Given the description of an element on the screen output the (x, y) to click on. 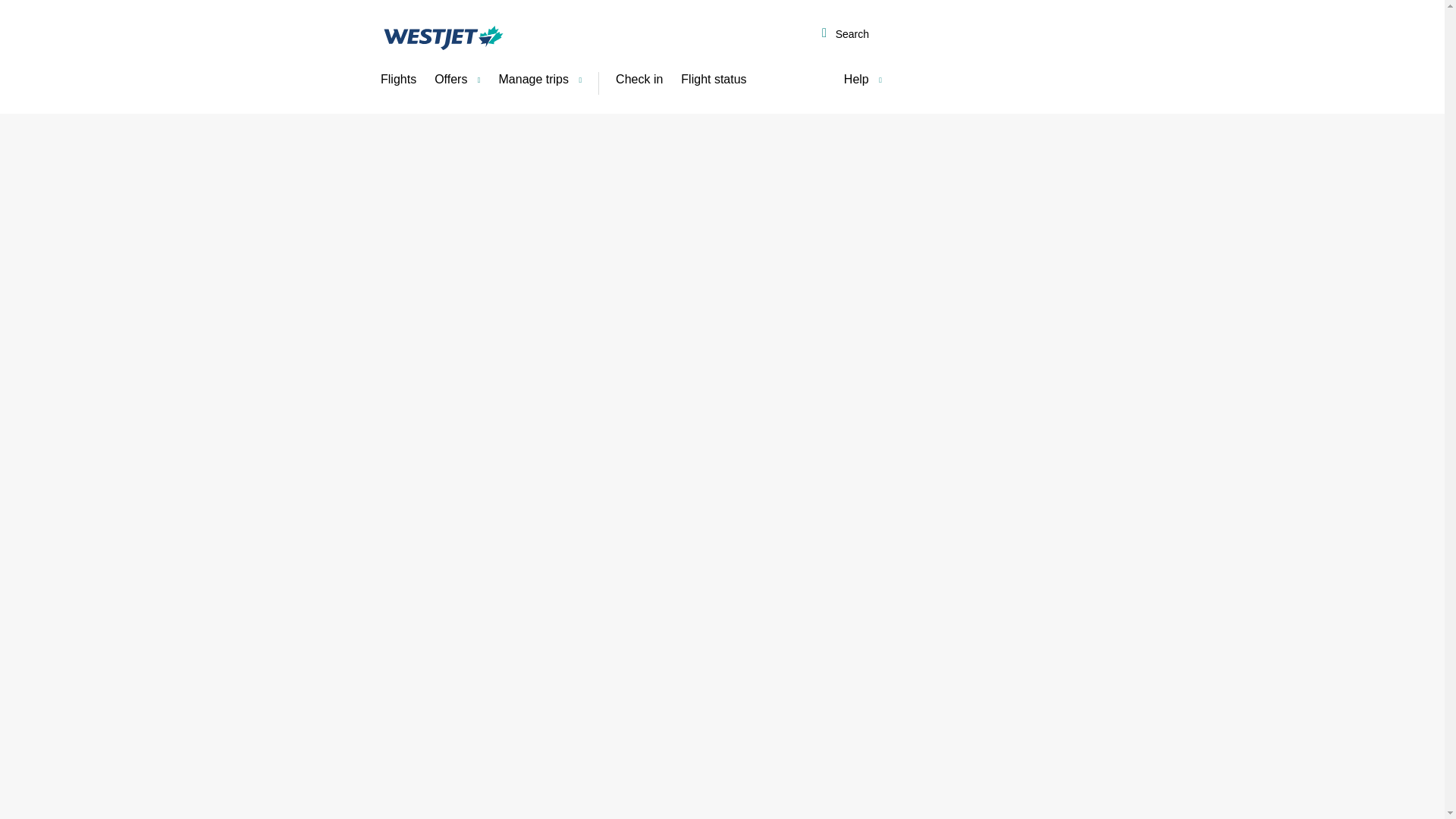
Flights (398, 79)
Flight status (713, 79)
Offers (457, 79)
Help (862, 79)
Navigate to the homepage (443, 37)
Search (845, 34)
Check in (639, 79)
Manage trips (540, 79)
